Given the description of an element on the screen output the (x, y) to click on. 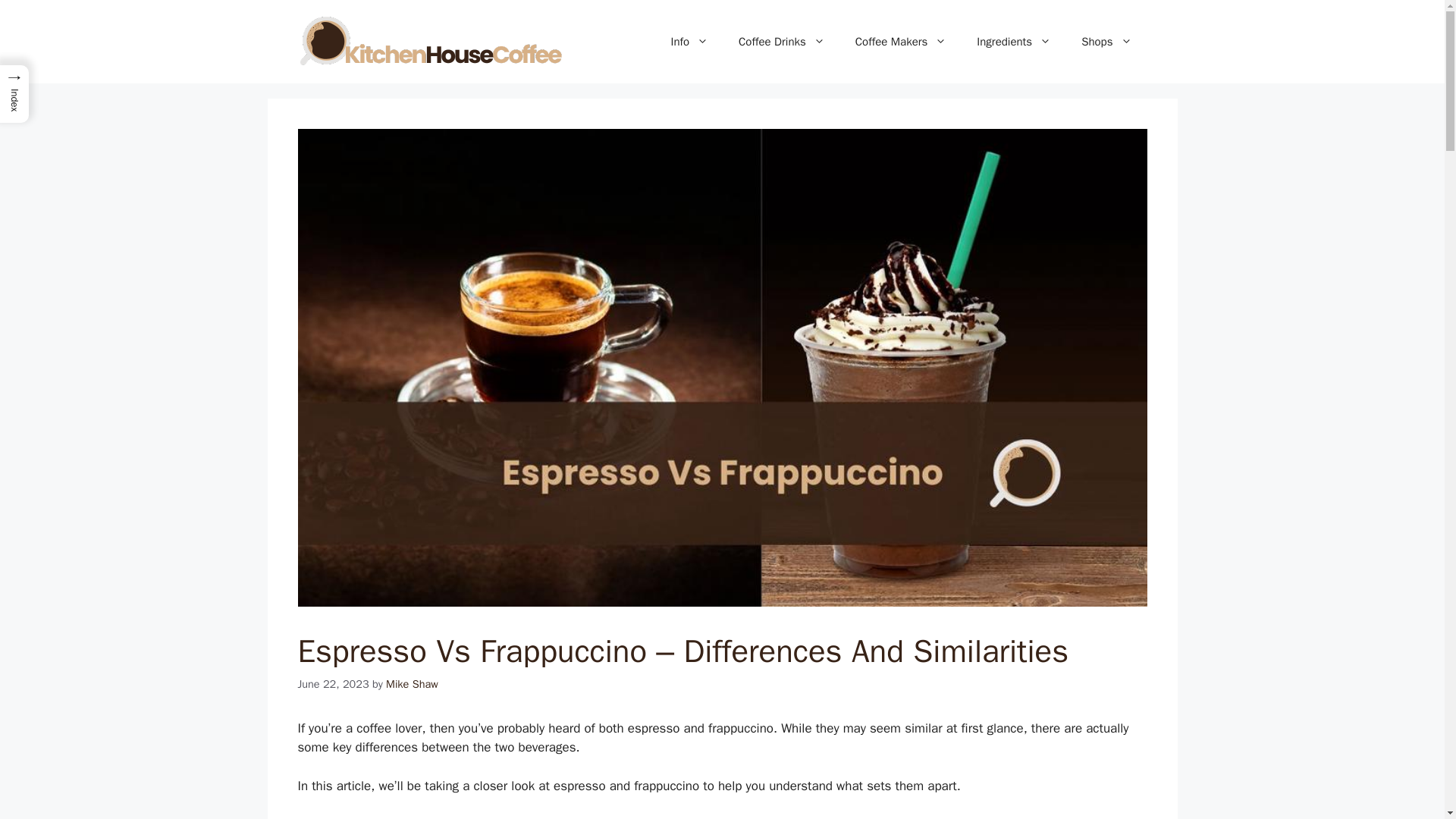
Mike Shaw (411, 684)
Coffee Makers (901, 41)
Info (689, 41)
View all posts by Mike Shaw (411, 684)
Shops (1106, 41)
Ingredients (1012, 41)
Coffee Drinks (781, 41)
